Given the description of an element on the screen output the (x, y) to click on. 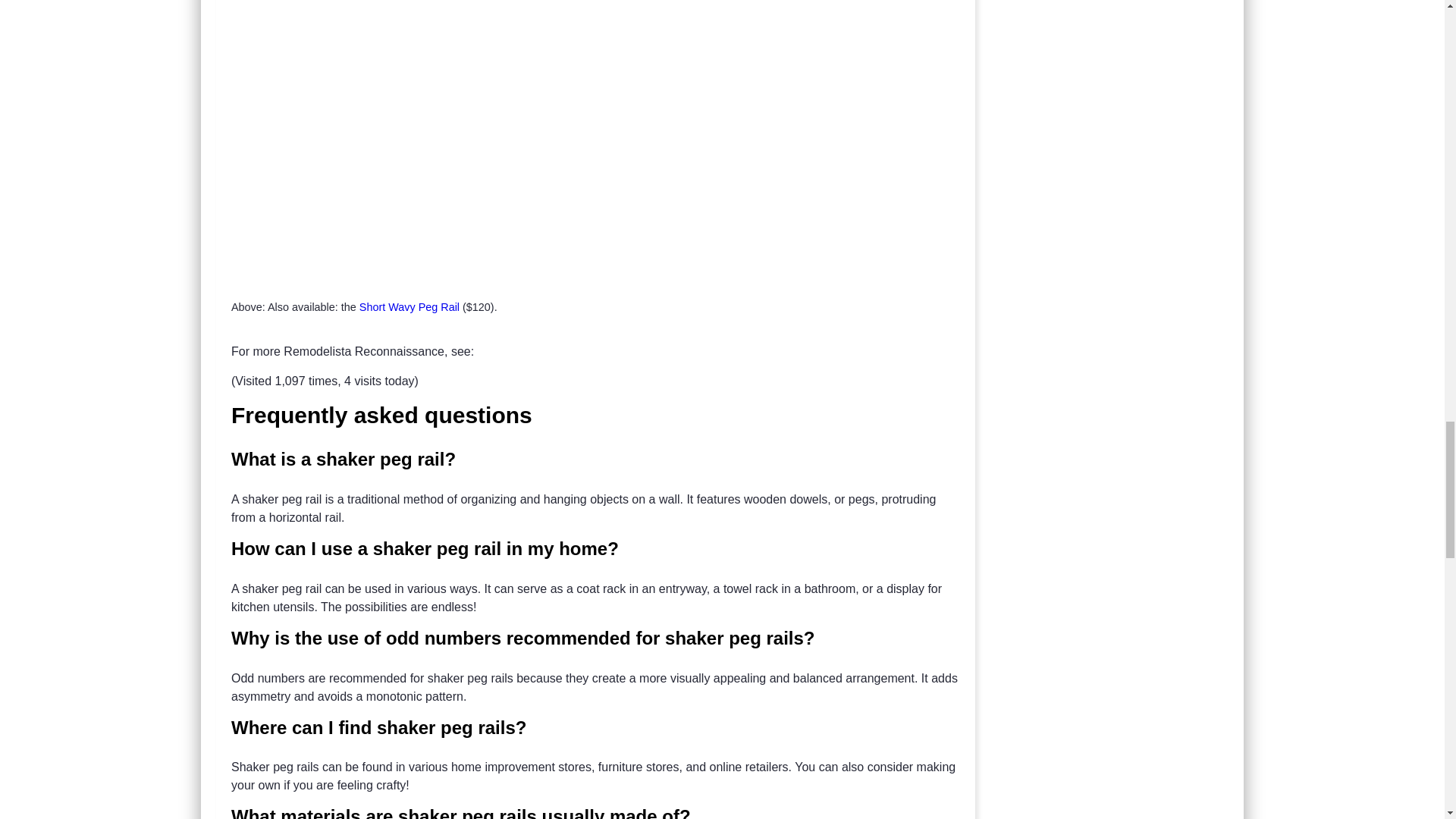
Short Wavy Peg Rail (409, 306)
